Given the description of an element on the screen output the (x, y) to click on. 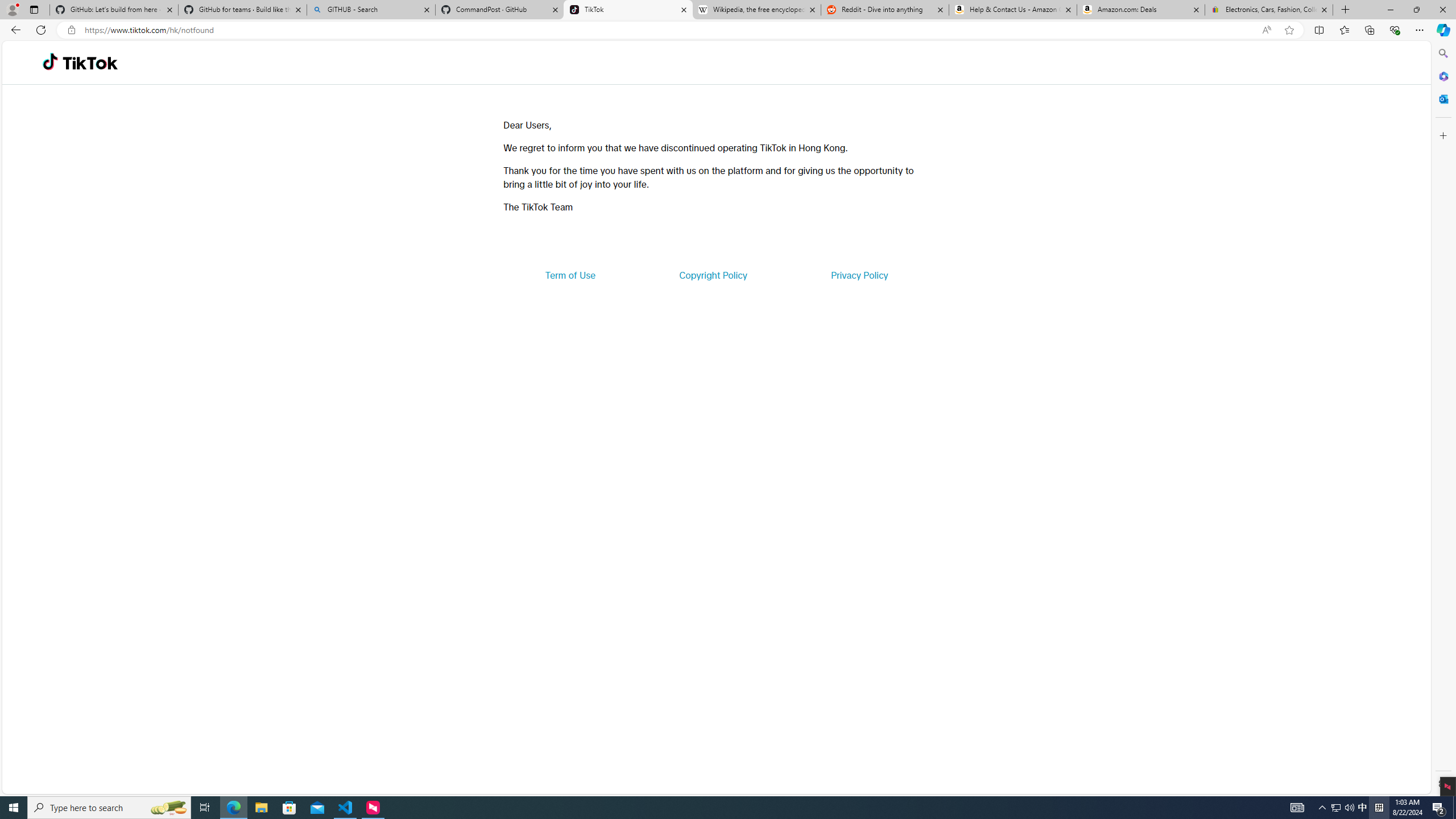
Wikipedia, the free encyclopedia (756, 9)
Copyright Policy (712, 274)
Privacy Policy (858, 274)
